Given the description of an element on the screen output the (x, y) to click on. 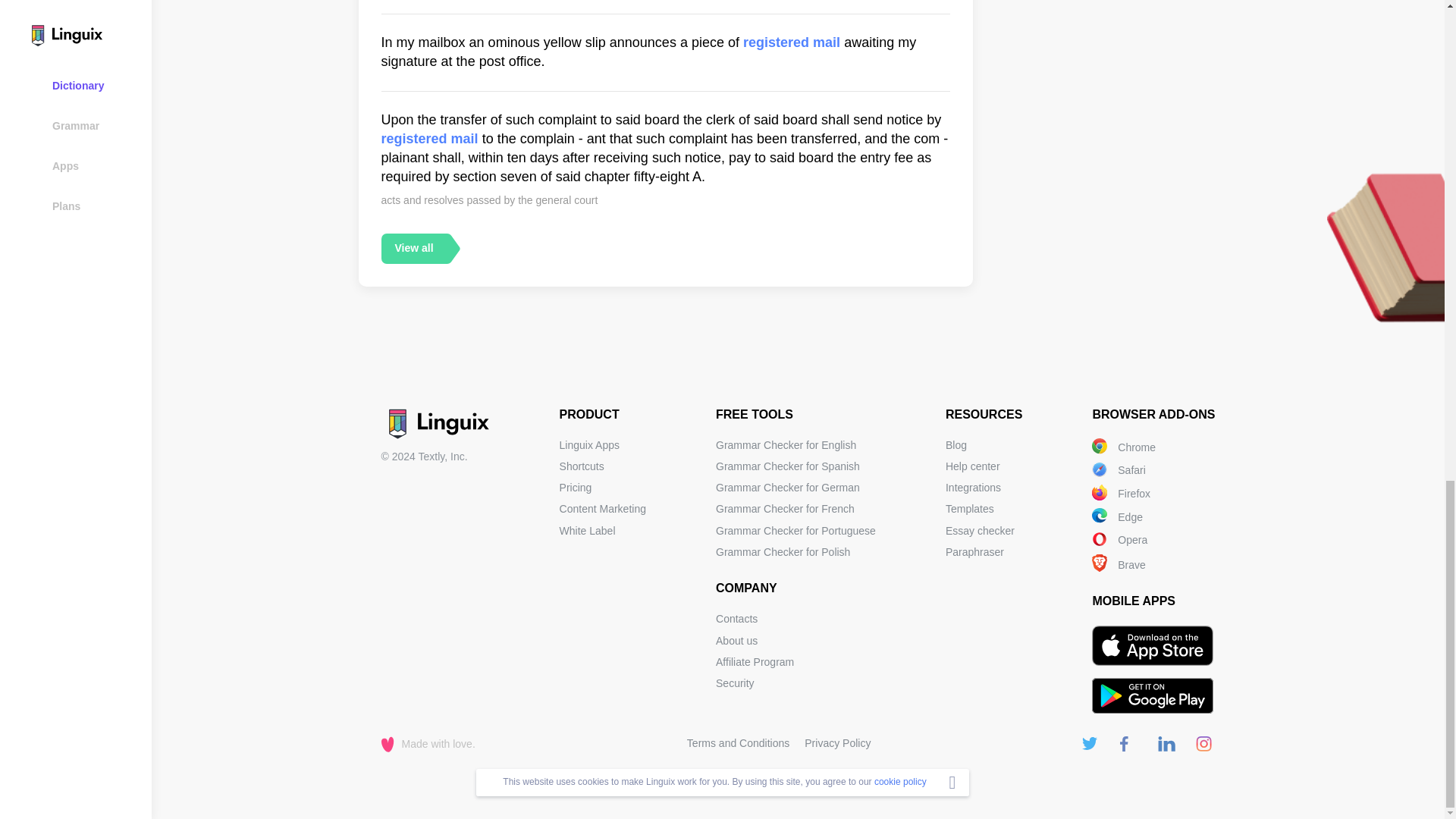
View all (413, 247)
Shortcuts (581, 466)
Grammar Checker for Spanish (788, 466)
Grammar Checker for French (785, 508)
Grammar Checker for Portuguese (796, 530)
Paraphraser (974, 551)
Grammar Checker for Polish (783, 551)
Essay checker (979, 530)
Grammar Checker for German (788, 487)
Grammar Checker for English (786, 444)
